Given the description of an element on the screen output the (x, y) to click on. 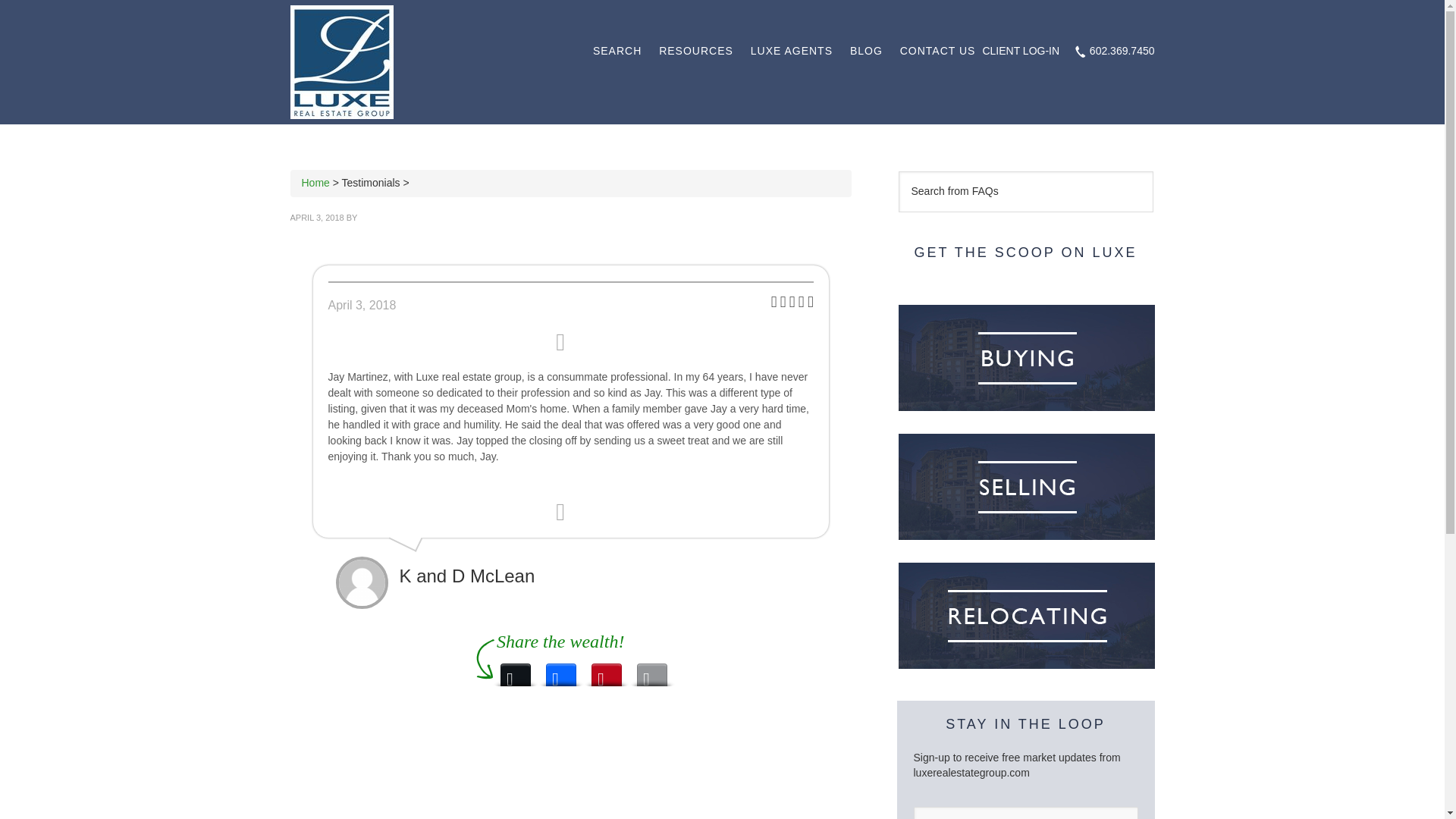
For Buyers (1027, 357)
CONTACT US (937, 51)
BLOG (866, 51)
Email This (651, 670)
SEARCH (616, 51)
Facebook (560, 670)
CLIENT LOG-IN (1020, 51)
Pinterest (605, 670)
Search from FAQs (1025, 191)
For Buyers (1027, 486)
RESOURCES (695, 51)
Home (315, 182)
Relocate to Arizona (1027, 615)
LUXE AGENTS (792, 51)
